Given the description of an element on the screen output the (x, y) to click on. 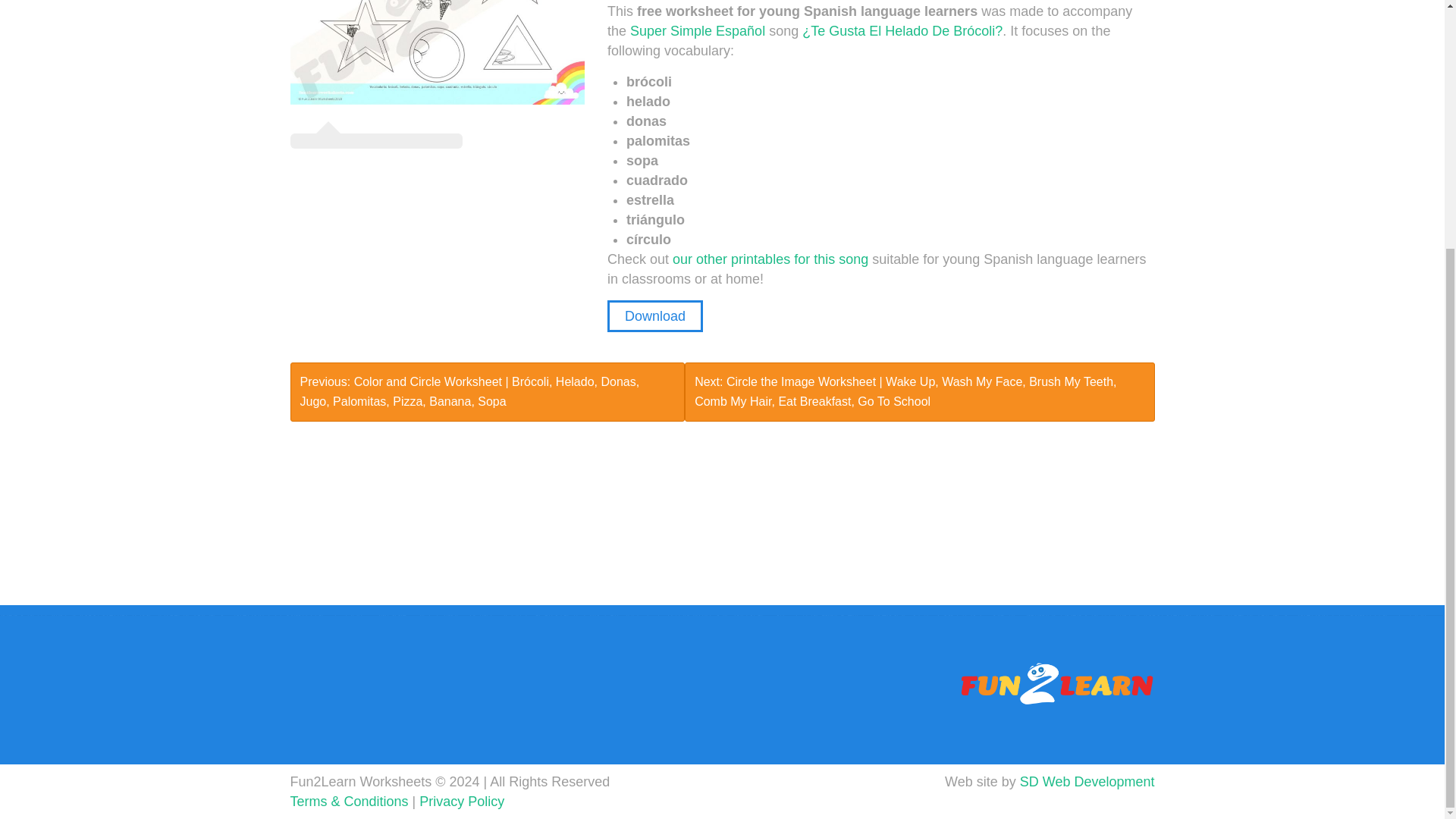
SD Web Development (1087, 781)
Download (655, 316)
Privacy Policy (461, 801)
Download (655, 316)
our other printables for this song (769, 258)
